Given the description of an element on the screen output the (x, y) to click on. 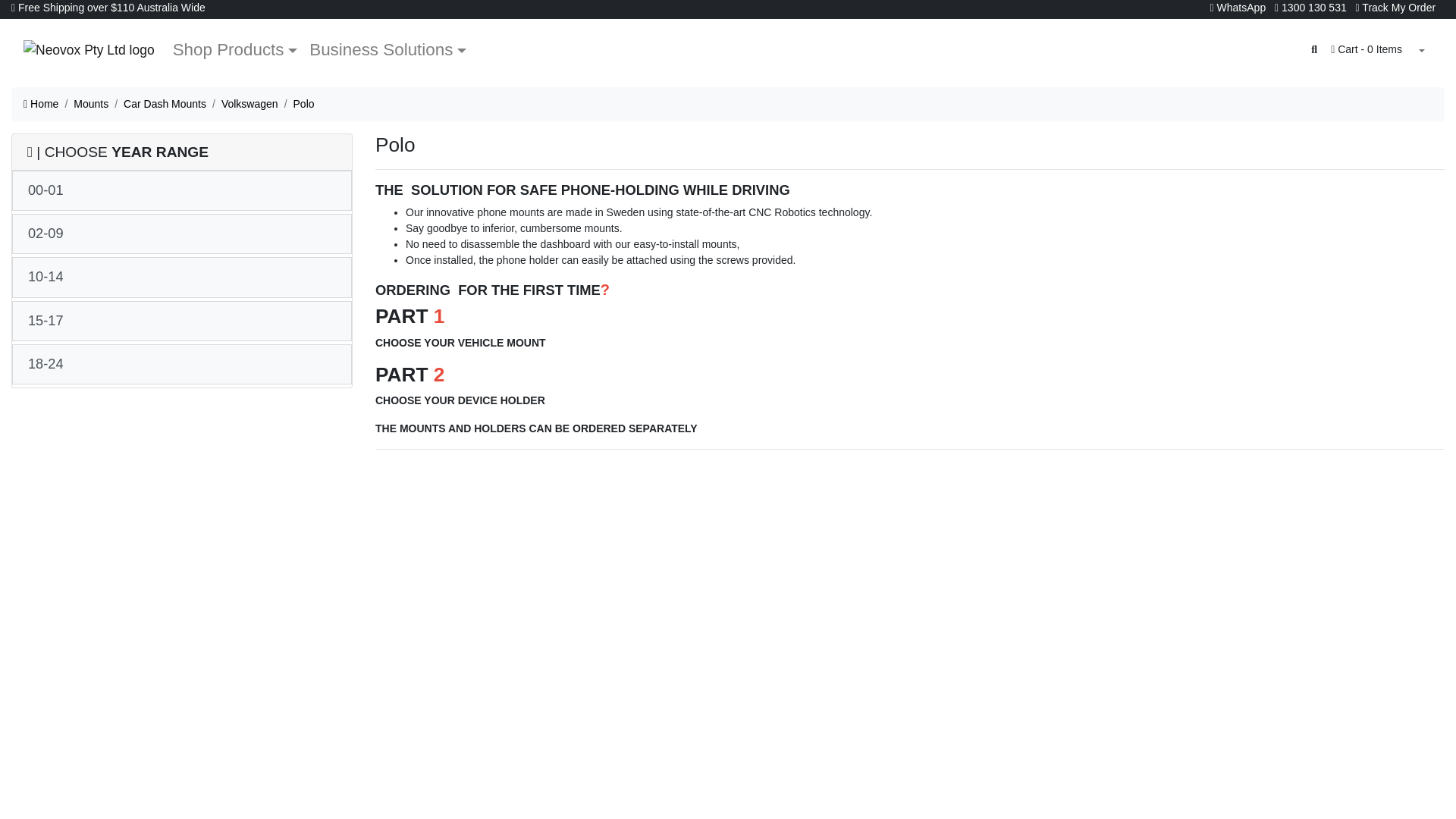
WhatsApp (1237, 7)
Neovox Pty Ltd (88, 50)
1300 130 531 (1310, 7)
Contact us (1310, 7)
Track My Order (1395, 7)
WhatsApp (1237, 7)
